Given the description of an element on the screen output the (x, y) to click on. 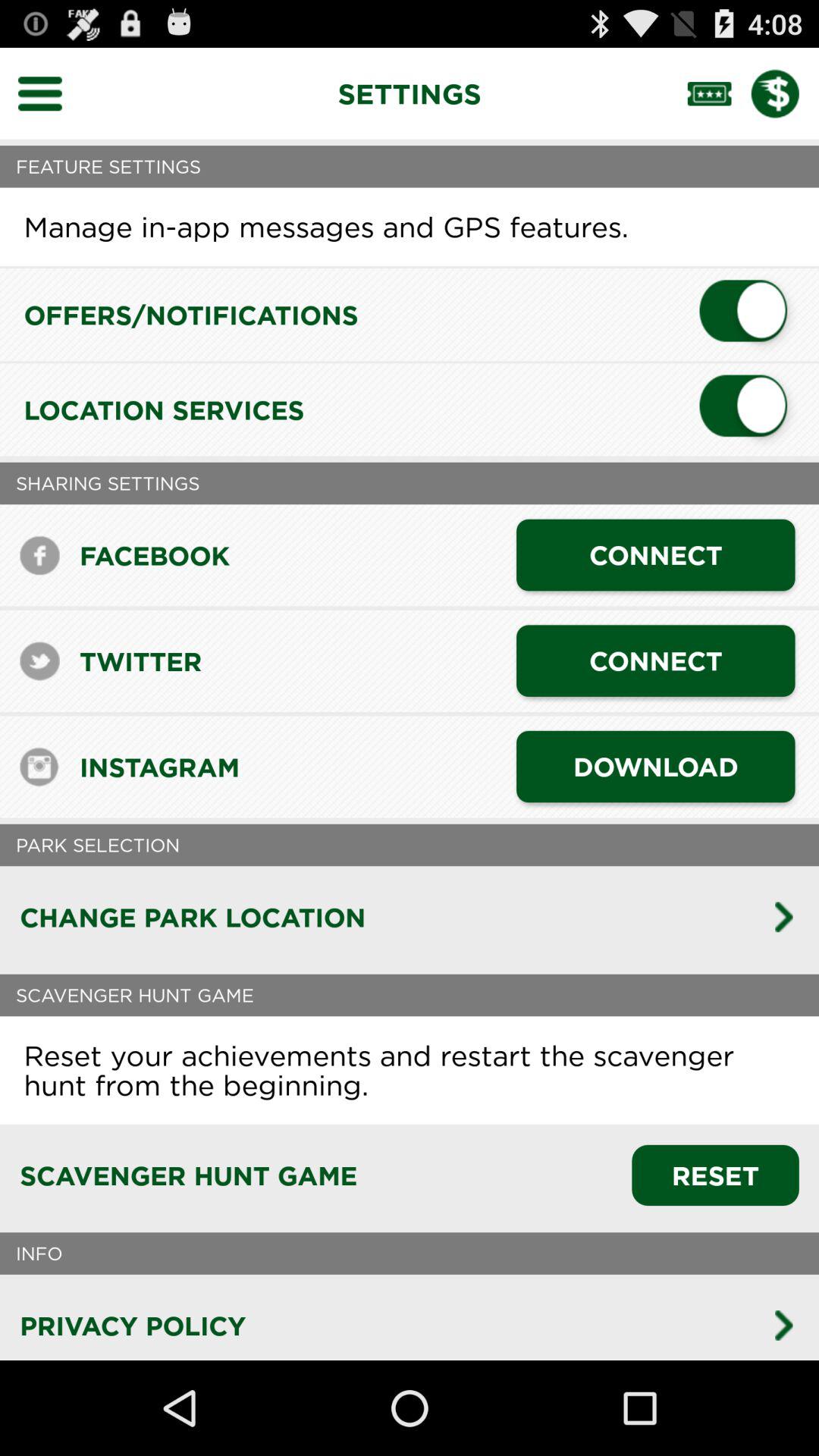
add money to app (785, 93)
